Given the description of an element on the screen output the (x, y) to click on. 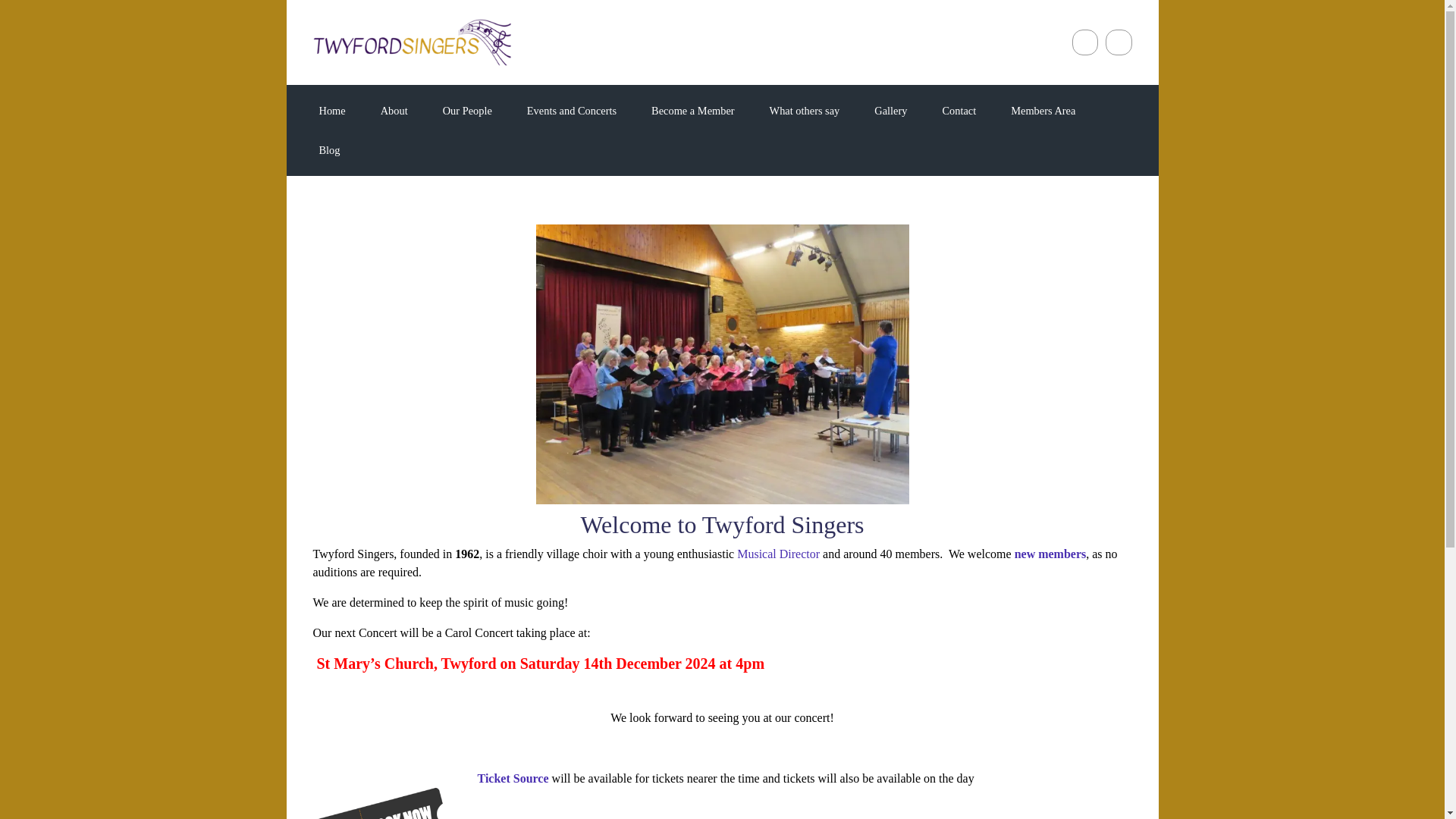
Contact (958, 110)
Become a Member (692, 110)
Musical Director (777, 553)
About (393, 110)
Home (331, 110)
new members (1050, 553)
Our People (466, 110)
What others say (803, 110)
Members Area (1042, 110)
Gallery (889, 110)
